Given the description of an element on the screen output the (x, y) to click on. 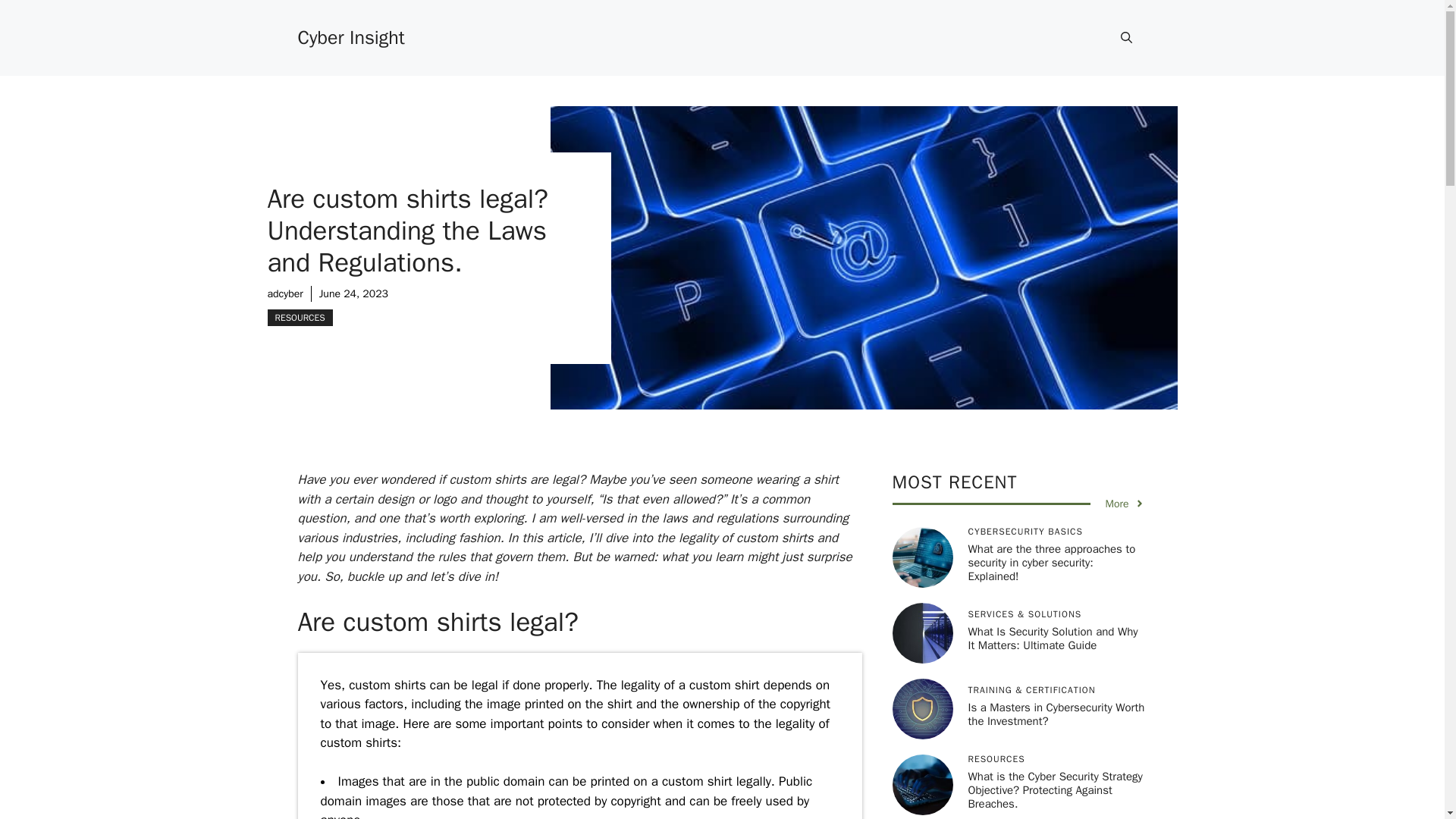
Is a Masters in Cybersecurity Worth the Investment? (1056, 714)
RESOURCES (298, 317)
adcyber (284, 292)
What Is Security Solution and Why It Matters: Ultimate Guide (1052, 637)
Cyber Insight (350, 37)
More (1124, 503)
